Given the description of an element on the screen output the (x, y) to click on. 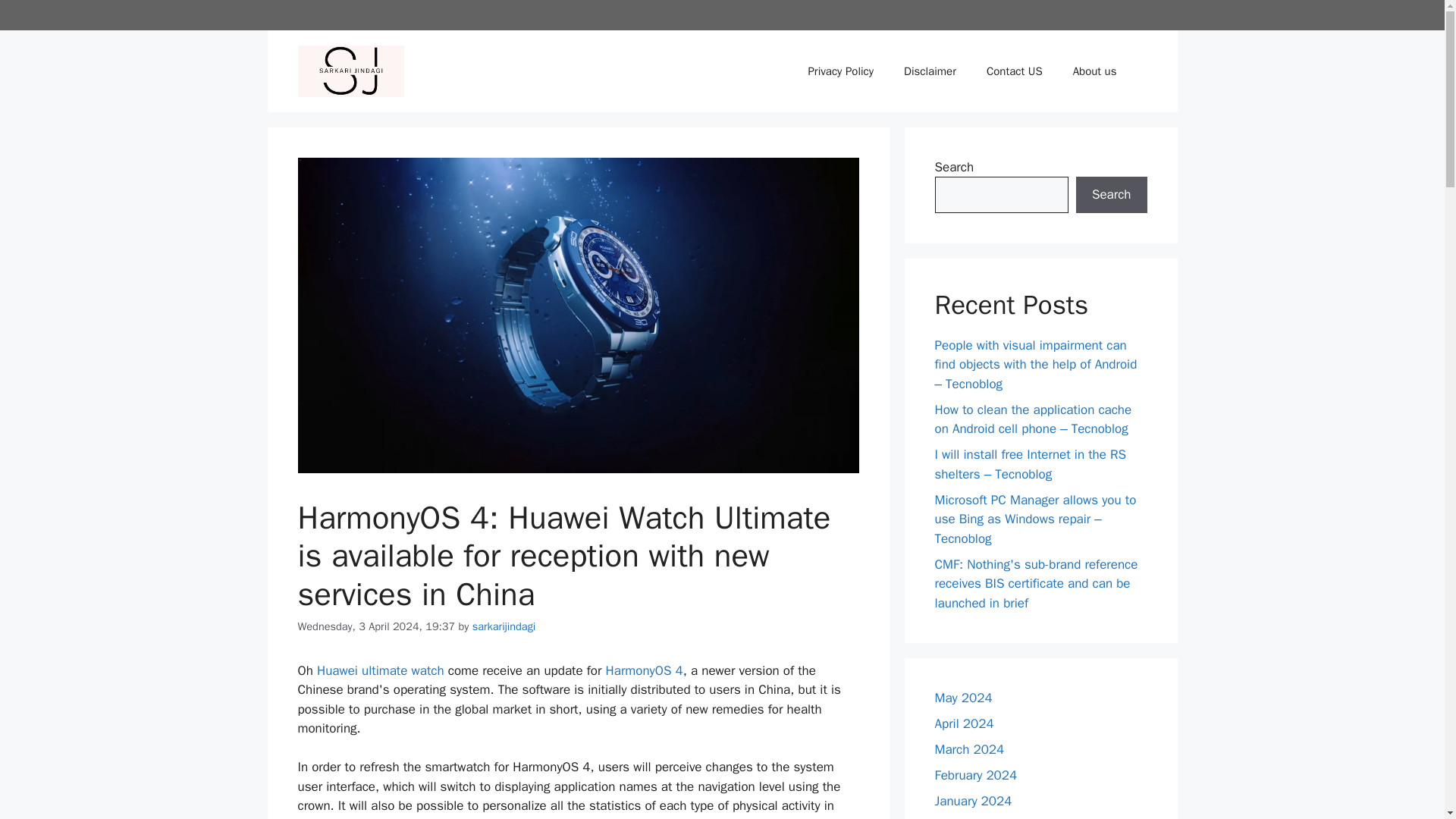
Disclaimer (929, 71)
View all posts by sarkarijindagi (503, 626)
January 2024 (972, 801)
February 2024 (975, 774)
April 2024 (963, 723)
March 2024 (969, 749)
About us (1095, 71)
Privacy Policy (840, 71)
May 2024 (962, 697)
